Given the description of an element on the screen output the (x, y) to click on. 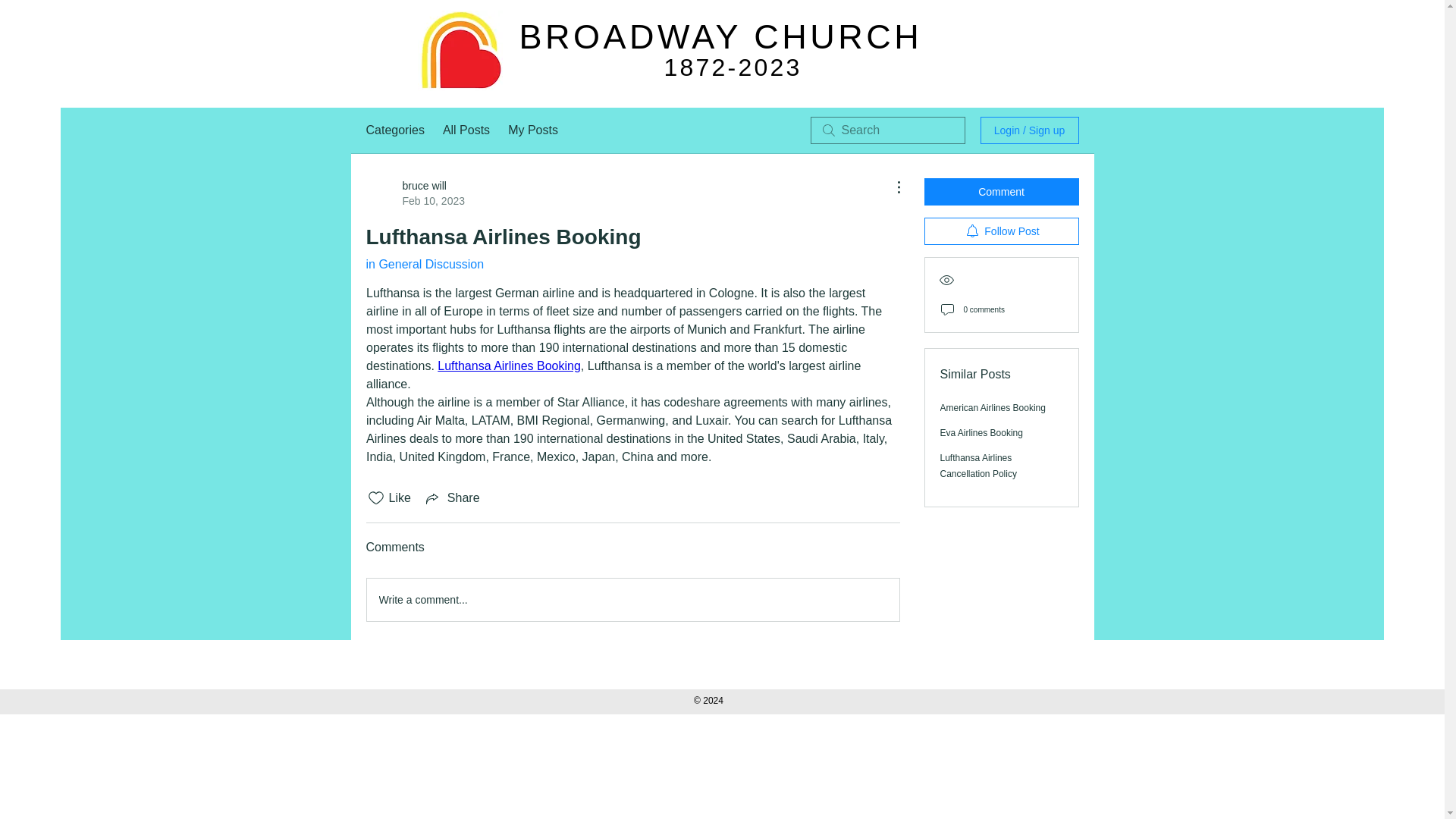
Categories (394, 130)
All Posts (465, 130)
Lufthansa Airlines Cancellation Policy (978, 465)
Eva Airlines Booking (981, 432)
Write a comment... (632, 599)
Lufthansa Airlines Booking (509, 365)
Comment (1000, 191)
American Airlines Booking (992, 407)
Share (451, 497)
Follow Post (1000, 230)
My Posts (532, 130)
in General Discussion (424, 264)
